Given the description of an element on the screen output the (x, y) to click on. 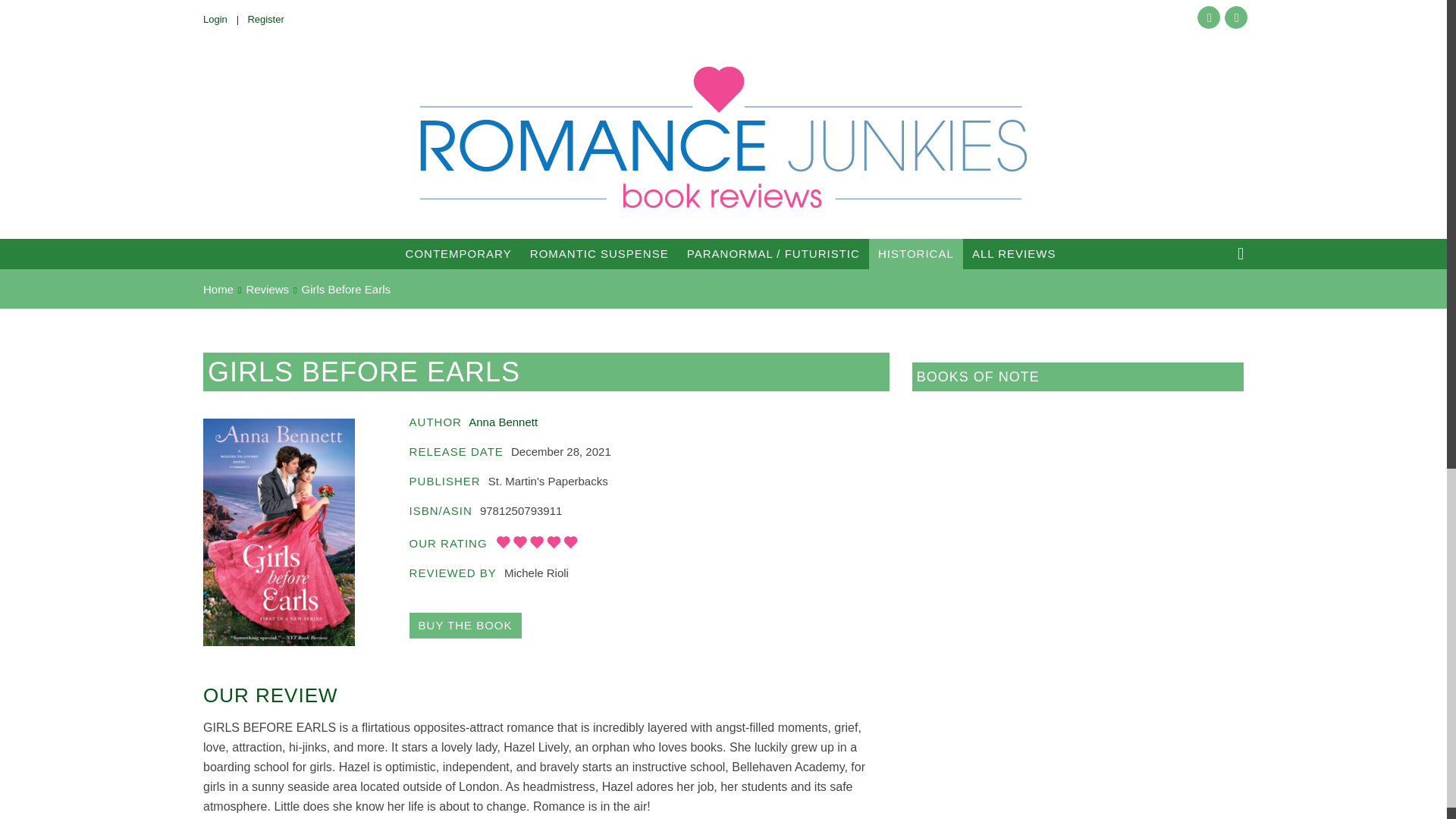
Follow Me on Twitter (1235, 16)
CONTEMPORARY (458, 254)
Girls Before Earls (465, 625)
Twitter (1235, 16)
Home (217, 288)
ALL REVIEWS (1013, 254)
HISTORICAL (915, 254)
Register (269, 19)
BUY THE BOOK (465, 625)
Facebook (1208, 16)
Anna Bennett (502, 421)
Reviews (267, 288)
ROMANTIC SUSPENSE (599, 254)
Login (225, 19)
Romance Junkies (722, 136)
